Given the description of an element on the screen output the (x, y) to click on. 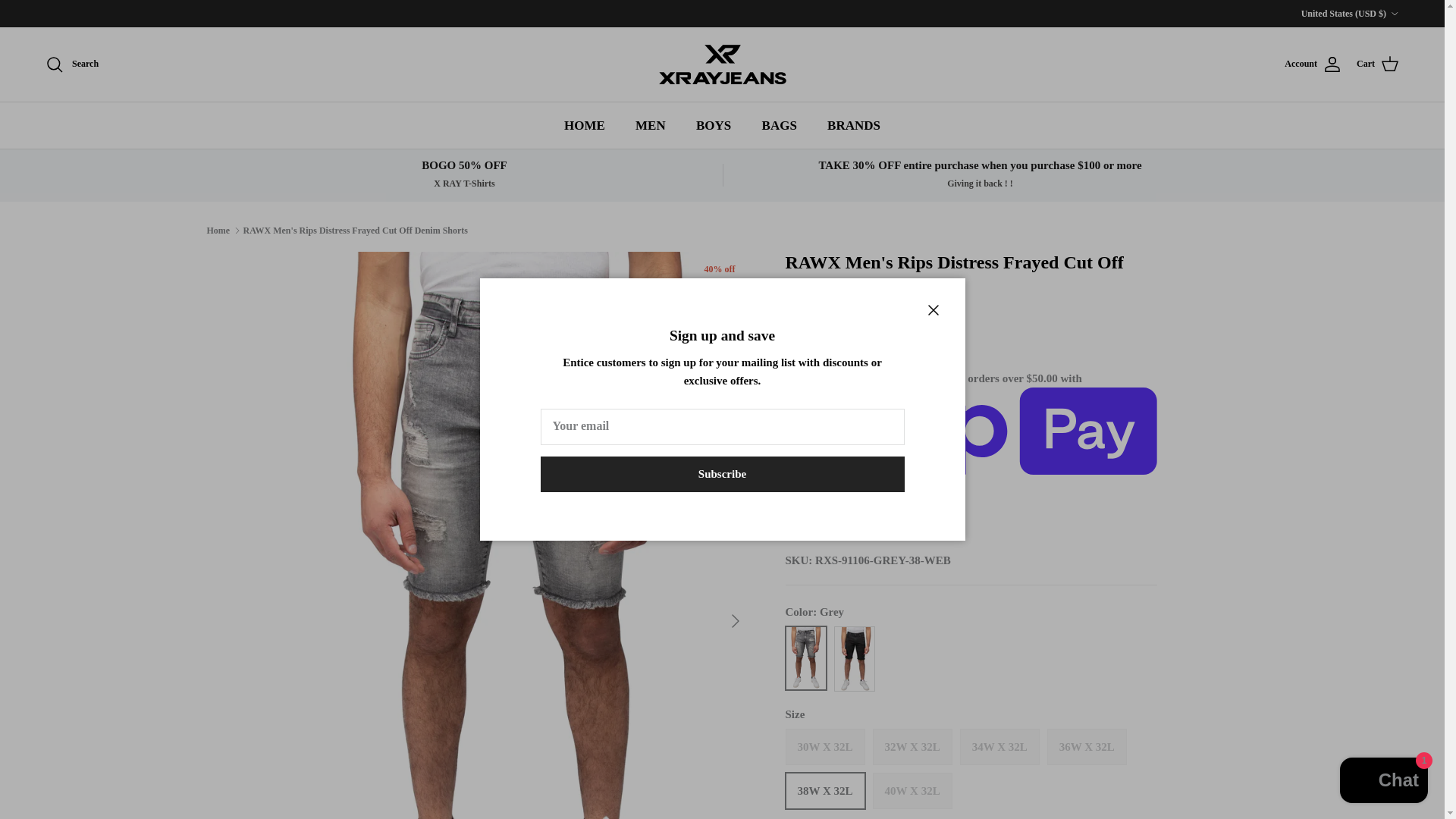
Shopify online store chat (1383, 781)
HOME (584, 124)
X-RAY JEANS (721, 64)
BOYS (713, 124)
BAGS (779, 124)
Cart (1377, 64)
MEN (650, 124)
Sold out (912, 791)
Sold out (1086, 746)
Sold out (999, 746)
Search (72, 64)
BRANDS (853, 124)
Sold out (912, 746)
Sold out (825, 746)
Account (1312, 64)
